Given the description of an element on the screen output the (x, y) to click on. 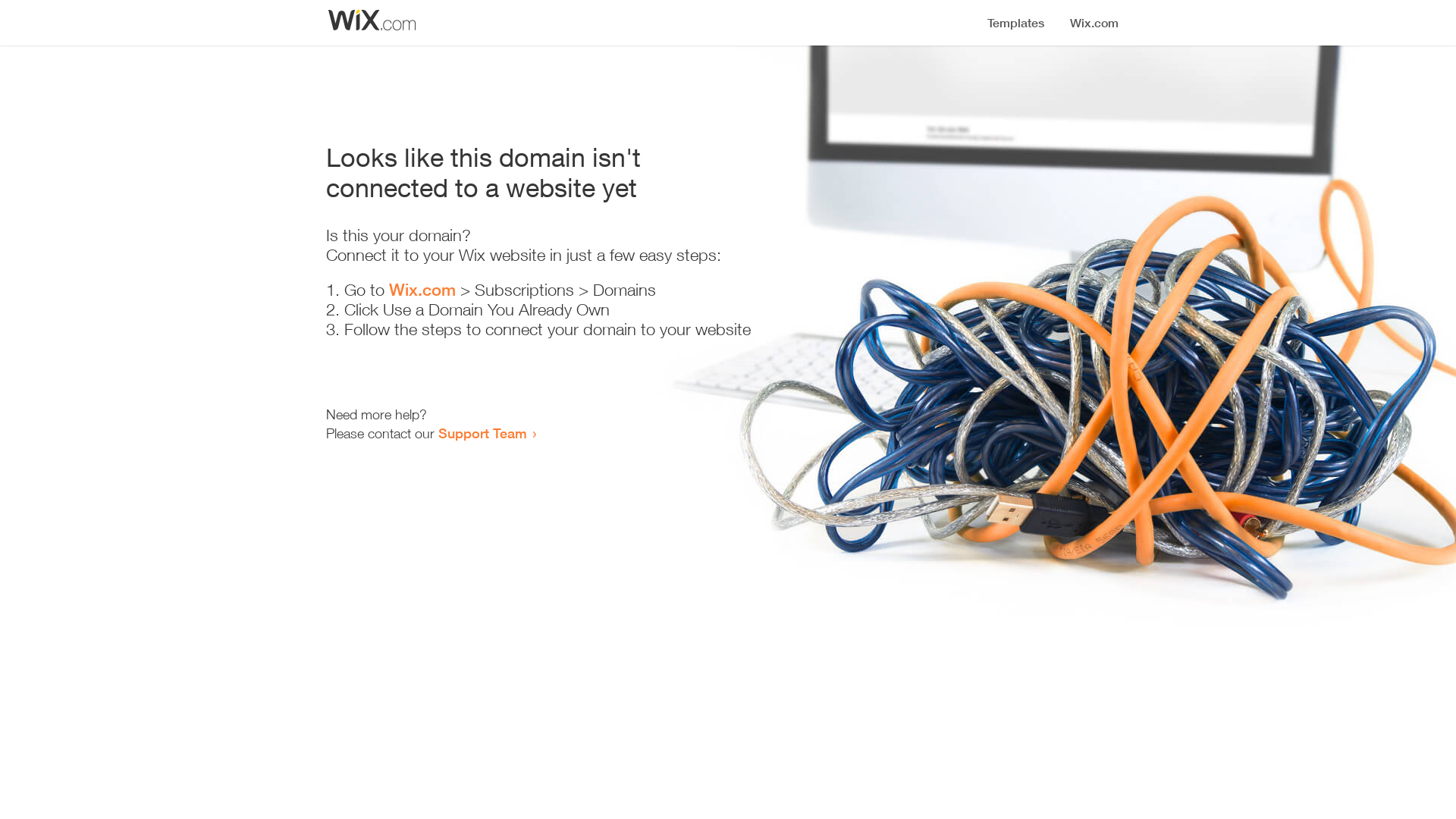
Wix.com Element type: text (422, 289)
Support Team Element type: text (482, 432)
